Given the description of an element on the screen output the (x, y) to click on. 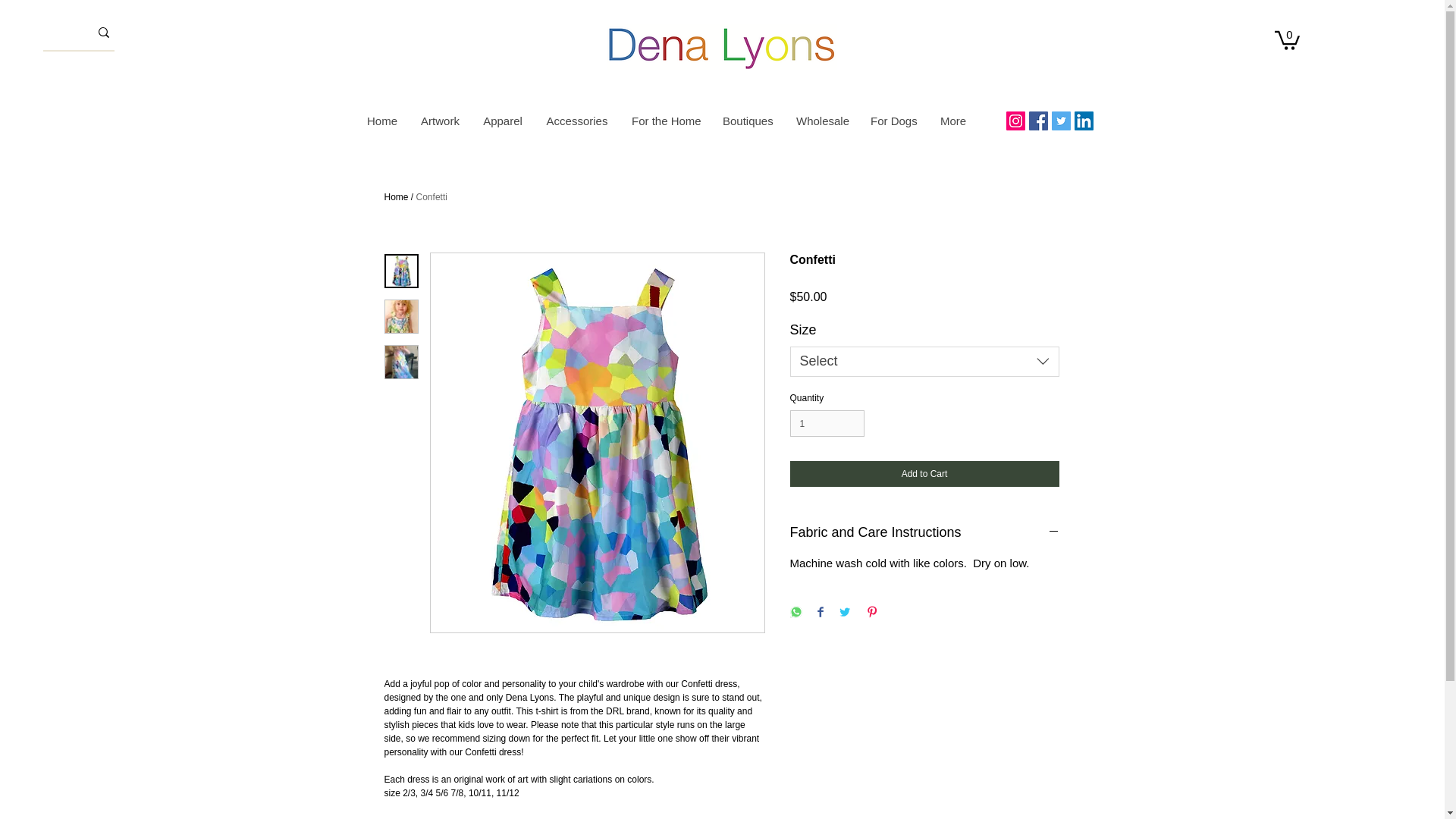
0 (1287, 38)
Home (382, 120)
Boutiques (747, 120)
1 (827, 423)
0 (1287, 38)
For Dogs (893, 120)
Wholesale (821, 120)
